Given the description of an element on the screen output the (x, y) to click on. 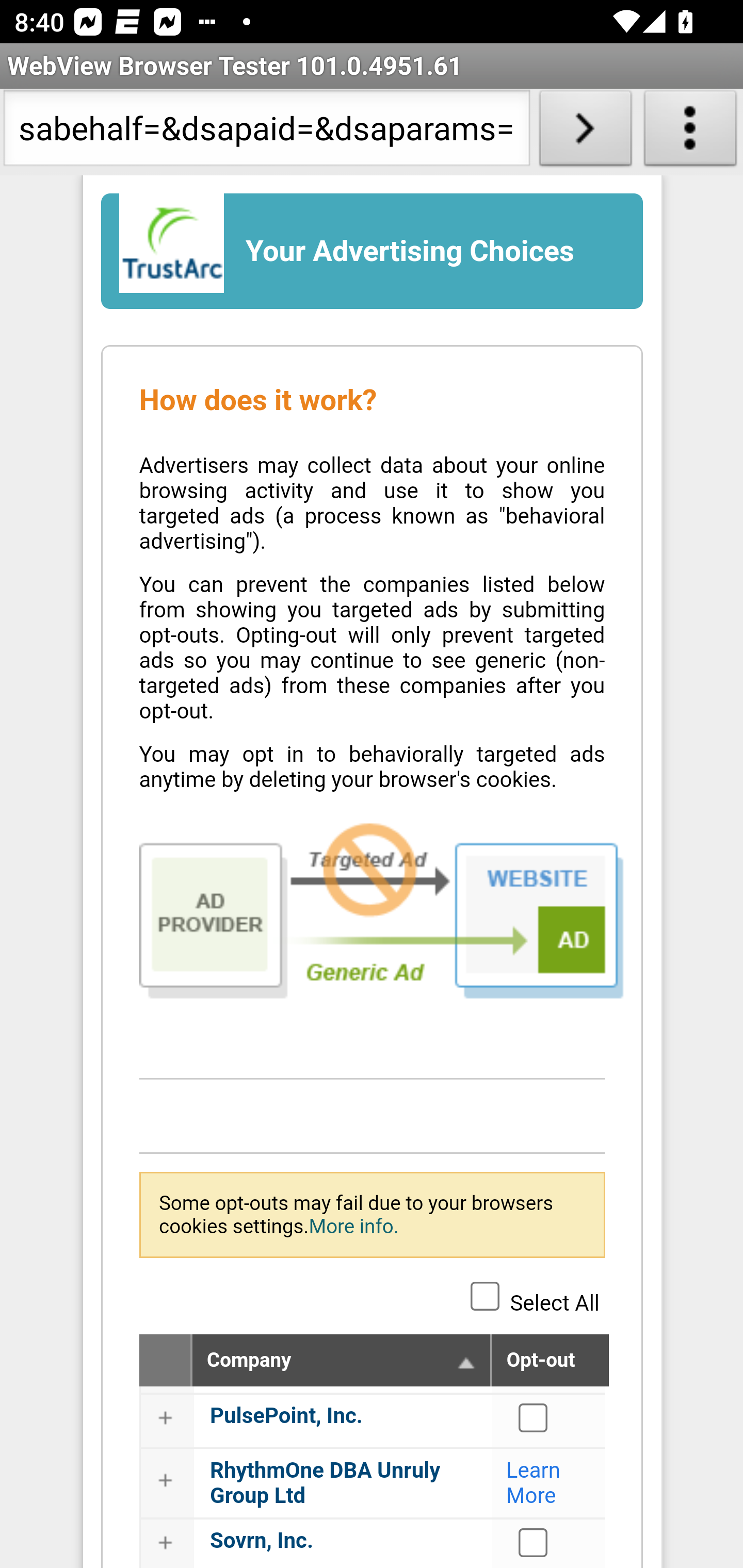
Load URL (585, 132)
About WebView (690, 132)
More info. (352, 1225)
 Select All  (484, 1294)
Company list, sort alphabetically ascending (466, 1361)
PulsePoint, Inc. (286, 1416)
PulsePoint, Inc. (533, 1418)
RhythmOne DBA Unruly Group Ltd (325, 1482)
Learn More (533, 1482)
Sovrn, Inc. (261, 1540)
Sovrn, Inc. (533, 1542)
